Given the description of an element on the screen output the (x, y) to click on. 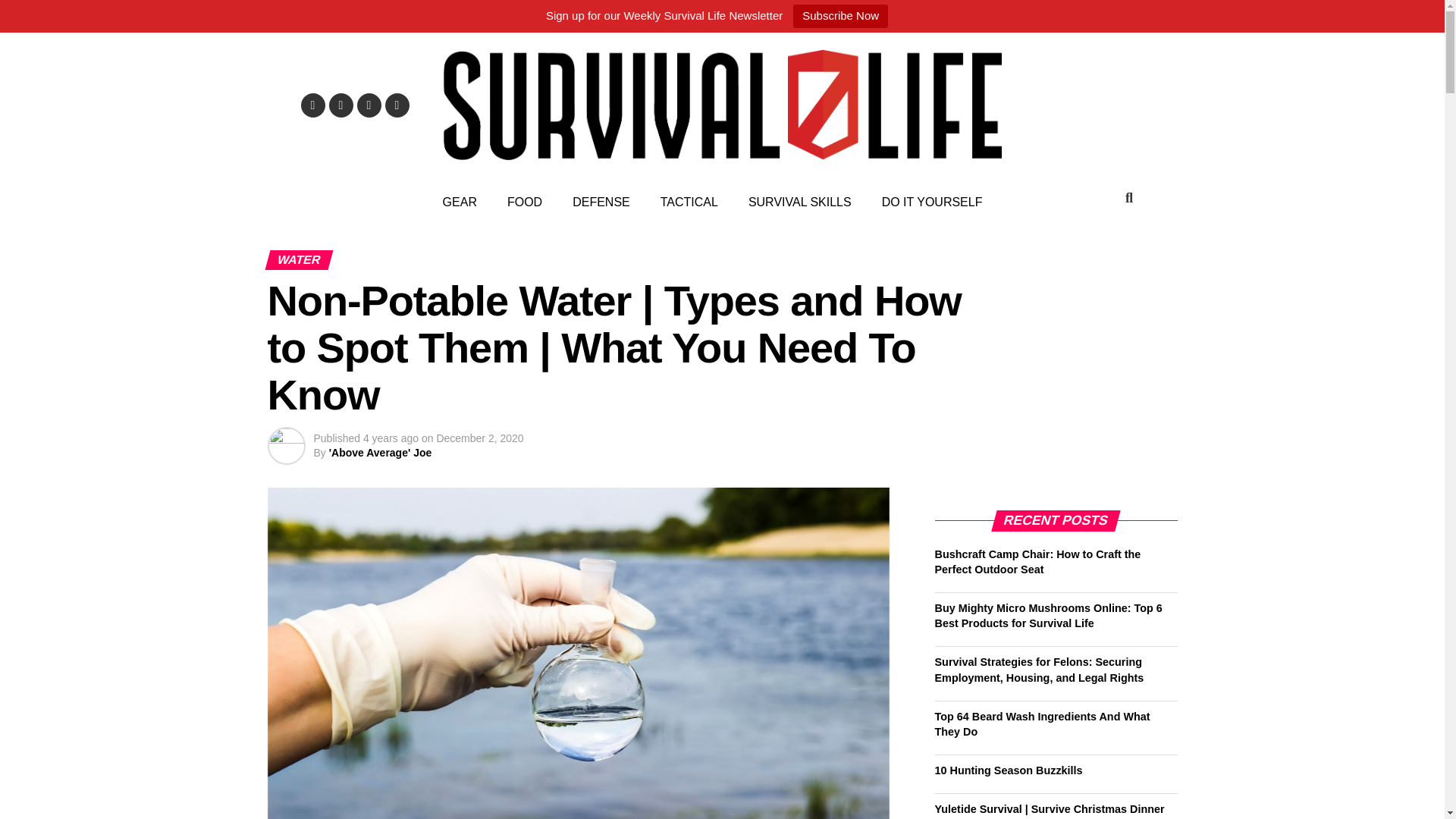
Posts by 'Above Average' Joe (380, 452)
GEAR (460, 202)
DO IT YOURSELF (931, 202)
'Above Average' Joe (380, 452)
SURVIVAL SKILLS (799, 202)
Subscribe Now (840, 15)
TACTICAL (689, 202)
FOOD (524, 202)
DEFENSE (601, 202)
